Given the description of an element on the screen output the (x, y) to click on. 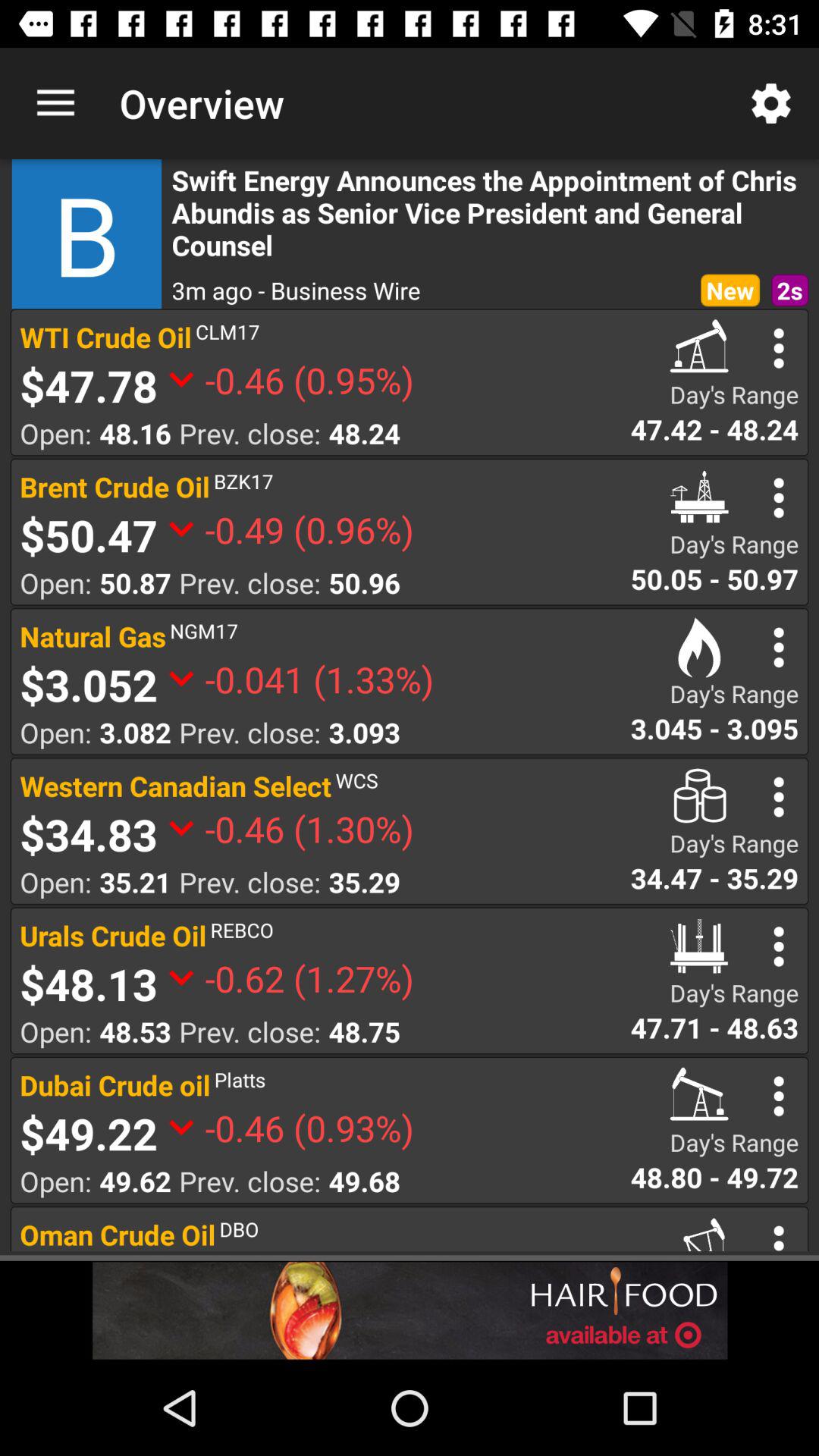
more options to dubai crude oil (778, 1096)
